Given the description of an element on the screen output the (x, y) to click on. 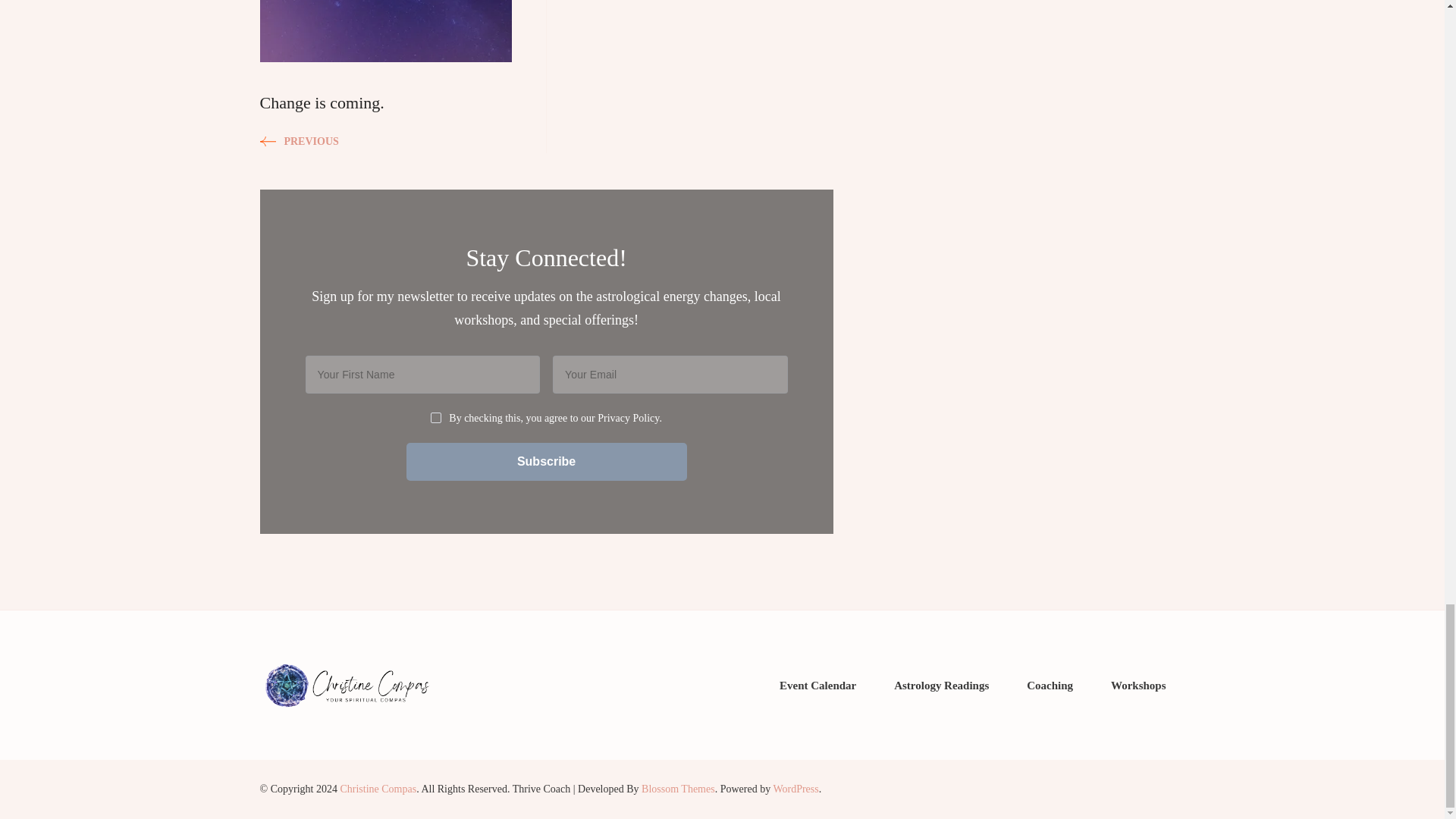
Subscribe (546, 461)
Subscribe (546, 461)
